Given the description of an element on the screen output the (x, y) to click on. 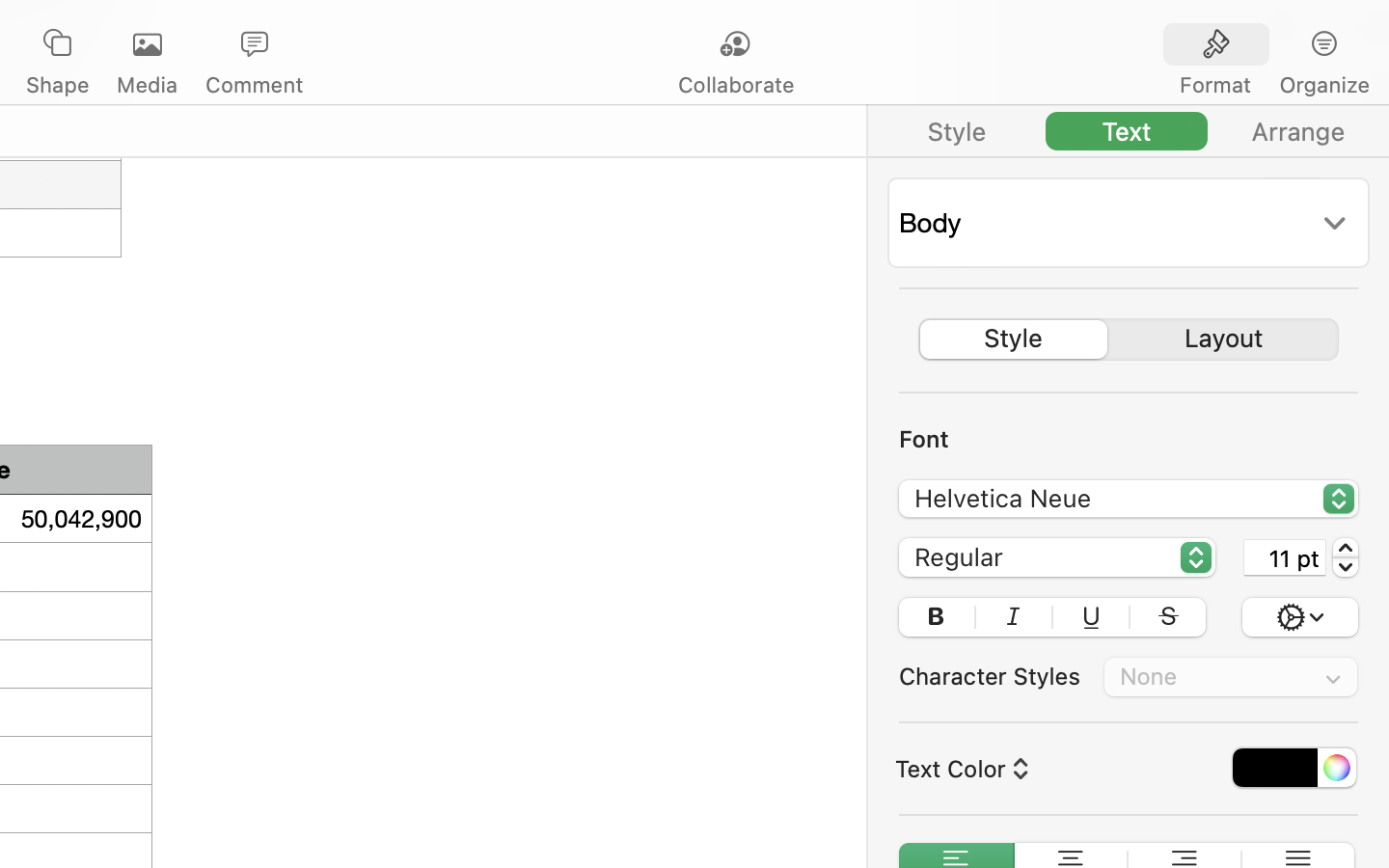
11 pt Element type: AXTextField (1284, 557)
Format Element type: AXStaticText (1215, 84)
Regular Element type: AXPopUpButton (1058, 560)
Organize Element type: AXStaticText (1323, 84)
Media Element type: AXStaticText (146, 84)
